Given the description of an element on the screen output the (x, y) to click on. 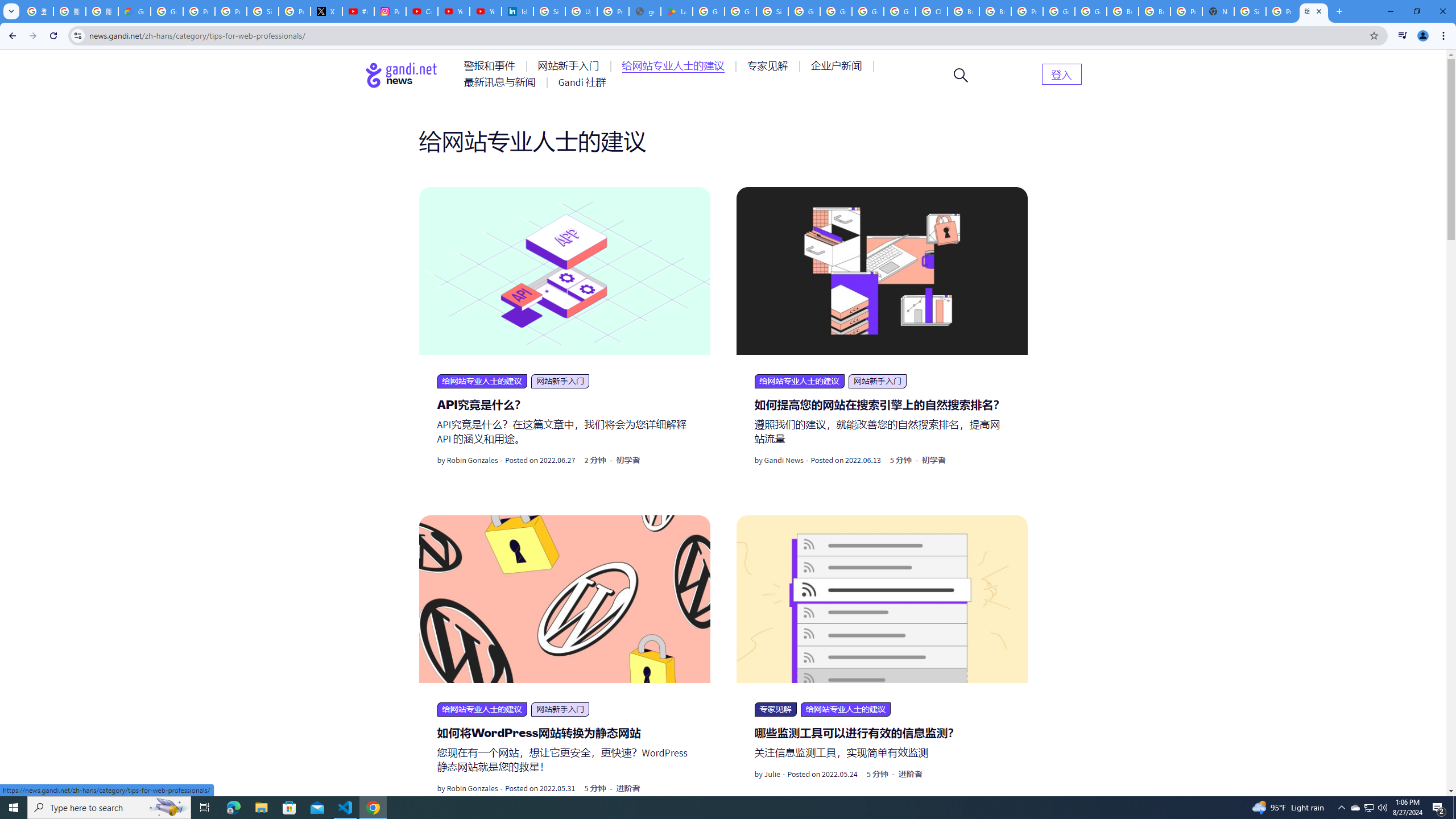
Go to home (401, 75)
Sign in - Google Accounts (262, 11)
Sign in - Google Accounts (549, 11)
google_privacy_policy_en.pdf (644, 11)
